Given the description of an element on the screen output the (x, y) to click on. 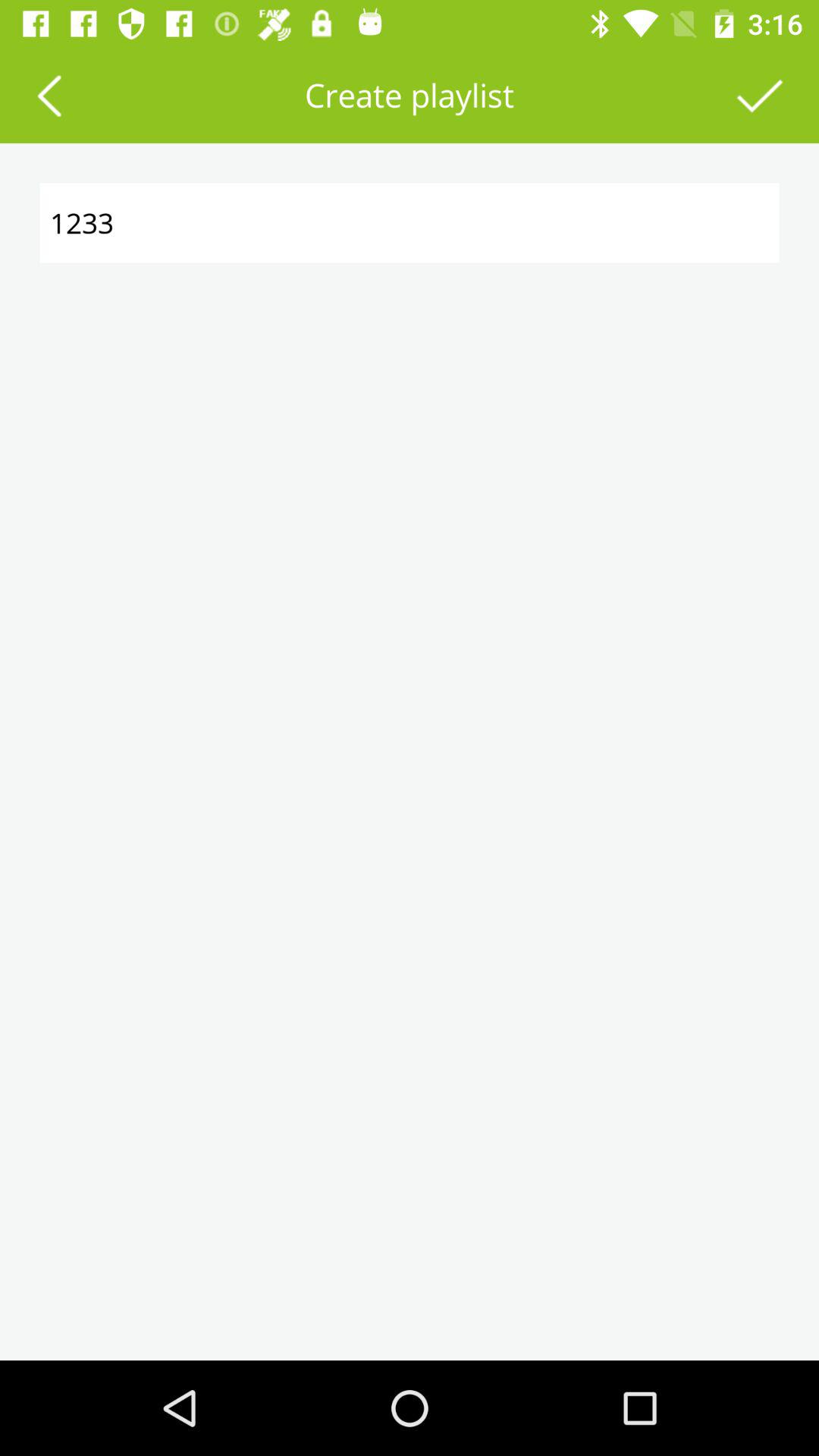
go to previous page (48, 95)
